Given the description of an element on the screen output the (x, y) to click on. 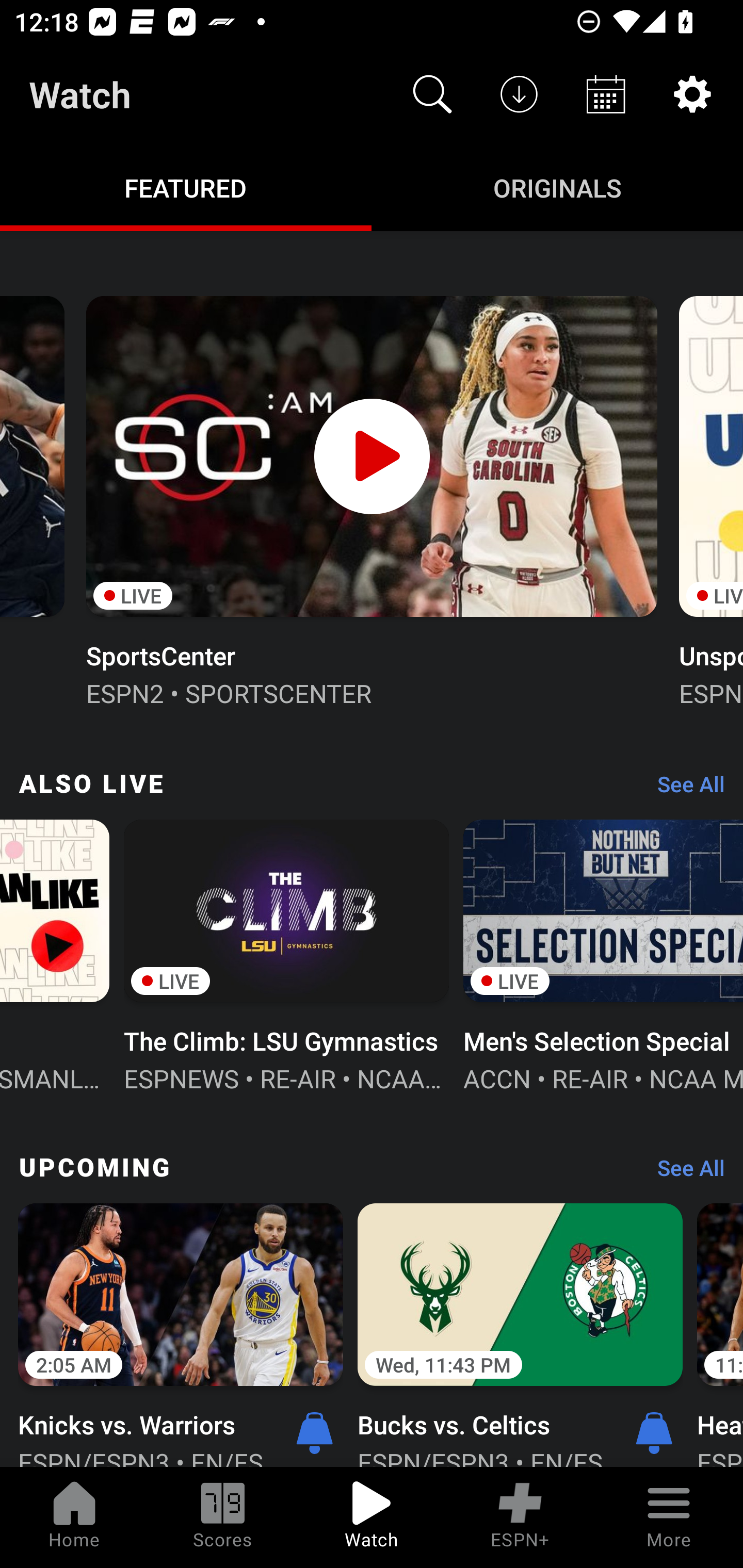
Search (432, 93)
Downloads (518, 93)
Schedule (605, 93)
Settings (692, 93)
Originals ORIGINALS (557, 187)
 LIVE SportsCenter ESPN2 • SPORTSCENTER (371, 499)
See All (683, 788)
See All (683, 1172)
Home (74, 1517)
Scores (222, 1517)
ESPN+ (519, 1517)
More (668, 1517)
